Given the description of an element on the screen output the (x, y) to click on. 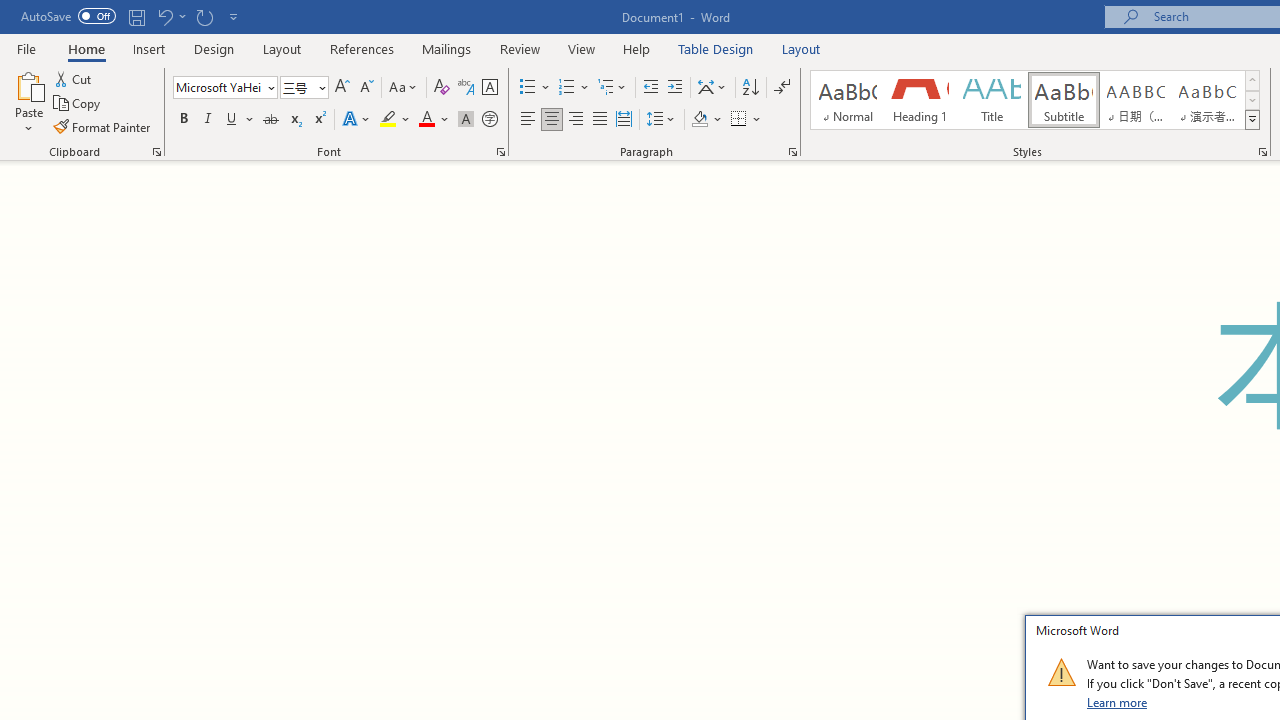
Distributed (623, 119)
Align Left (527, 119)
Change Case (404, 87)
AutomationID: QuickStylesGallery (1035, 99)
Superscript (319, 119)
Repeat Doc Close (204, 15)
Format Painter (103, 126)
Strikethrough (270, 119)
Phonetic Guide... (465, 87)
Italic (207, 119)
Align Right (575, 119)
